Given the description of an element on the screen output the (x, y) to click on. 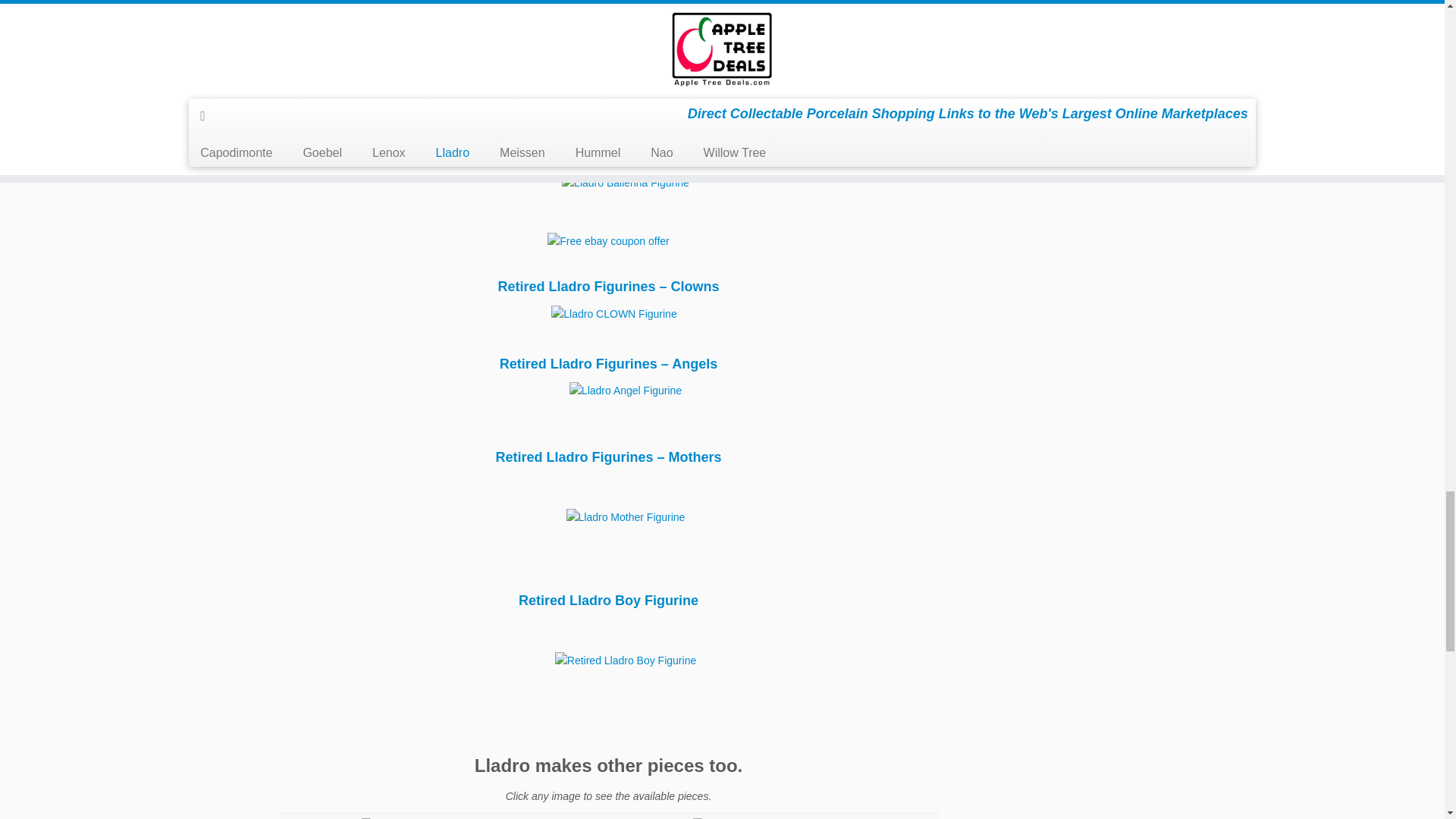
Free ebay discount coupon offer! (607, 242)
Retired Lladro Boy Figurine (609, 600)
Lladro Ballerina and Dancer Figurines (607, 182)
Lladro Ballerina and Dancer Figurines (609, 156)
